Given the description of an element on the screen output the (x, y) to click on. 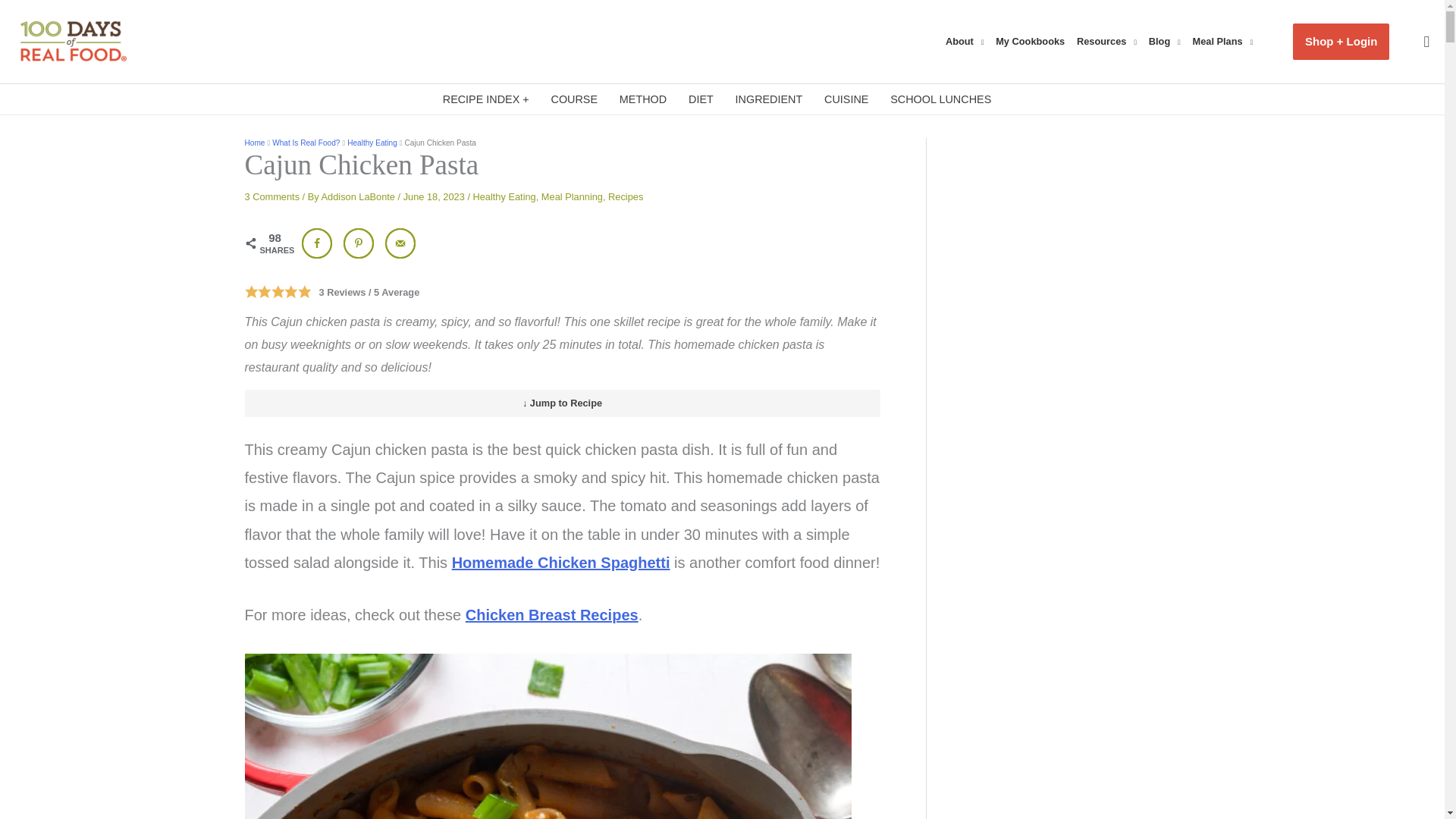
Save to Pinterest (358, 243)
View all posts by Addison LaBonte (359, 196)
About (967, 41)
Resources (1110, 41)
Send over email (399, 243)
My Cookbooks (1033, 41)
Meal Plans (1226, 41)
Share on Facebook (316, 243)
